Given the description of an element on the screen output the (x, y) to click on. 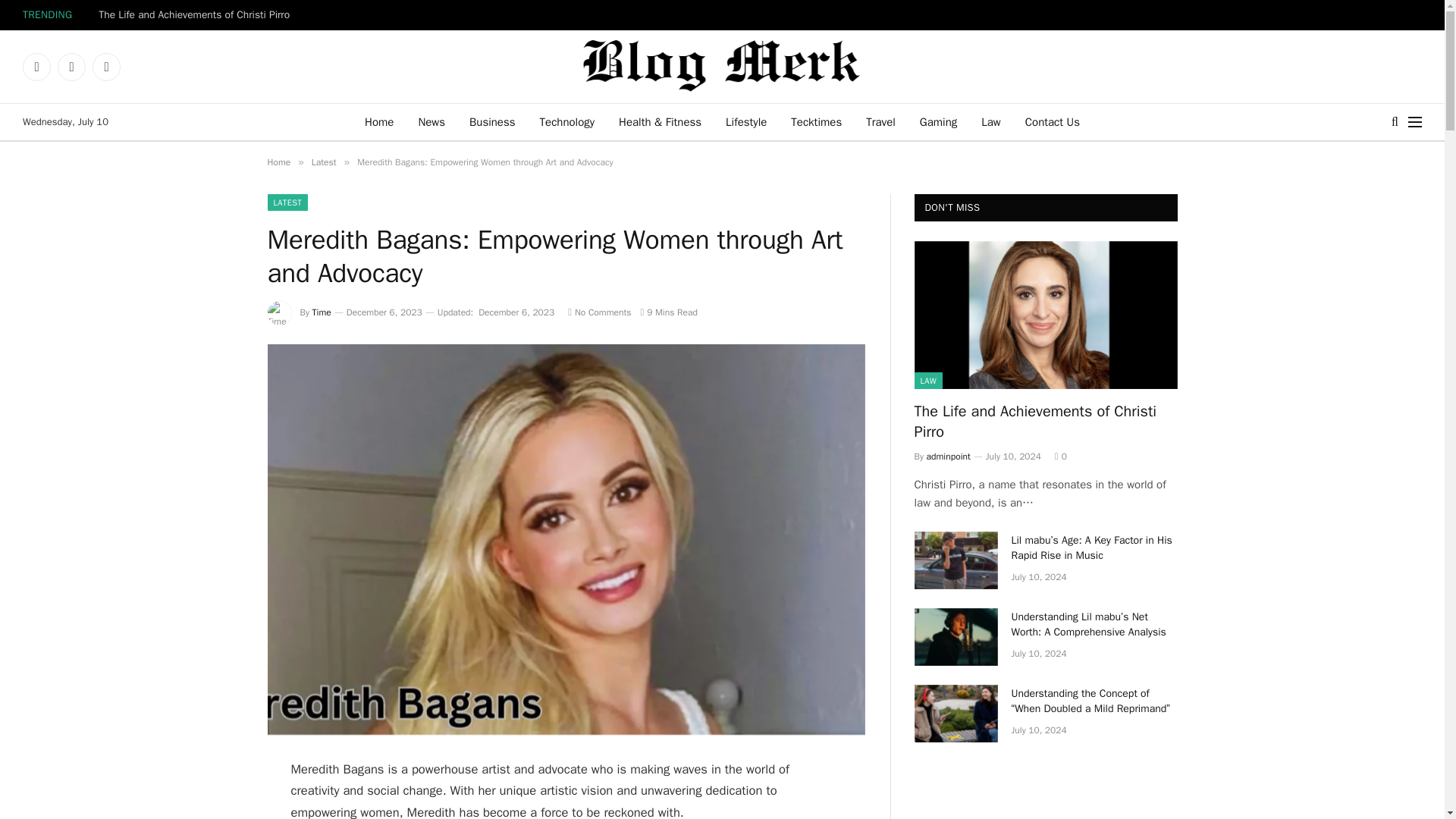
Posts by Time (322, 312)
Home (379, 122)
Facebook (36, 67)
News (431, 122)
The Life and Achievements of Christi Pirro (198, 15)
Technology (567, 122)
Blog Merk (722, 66)
Business (492, 122)
Instagram (106, 67)
